Given the description of an element on the screen output the (x, y) to click on. 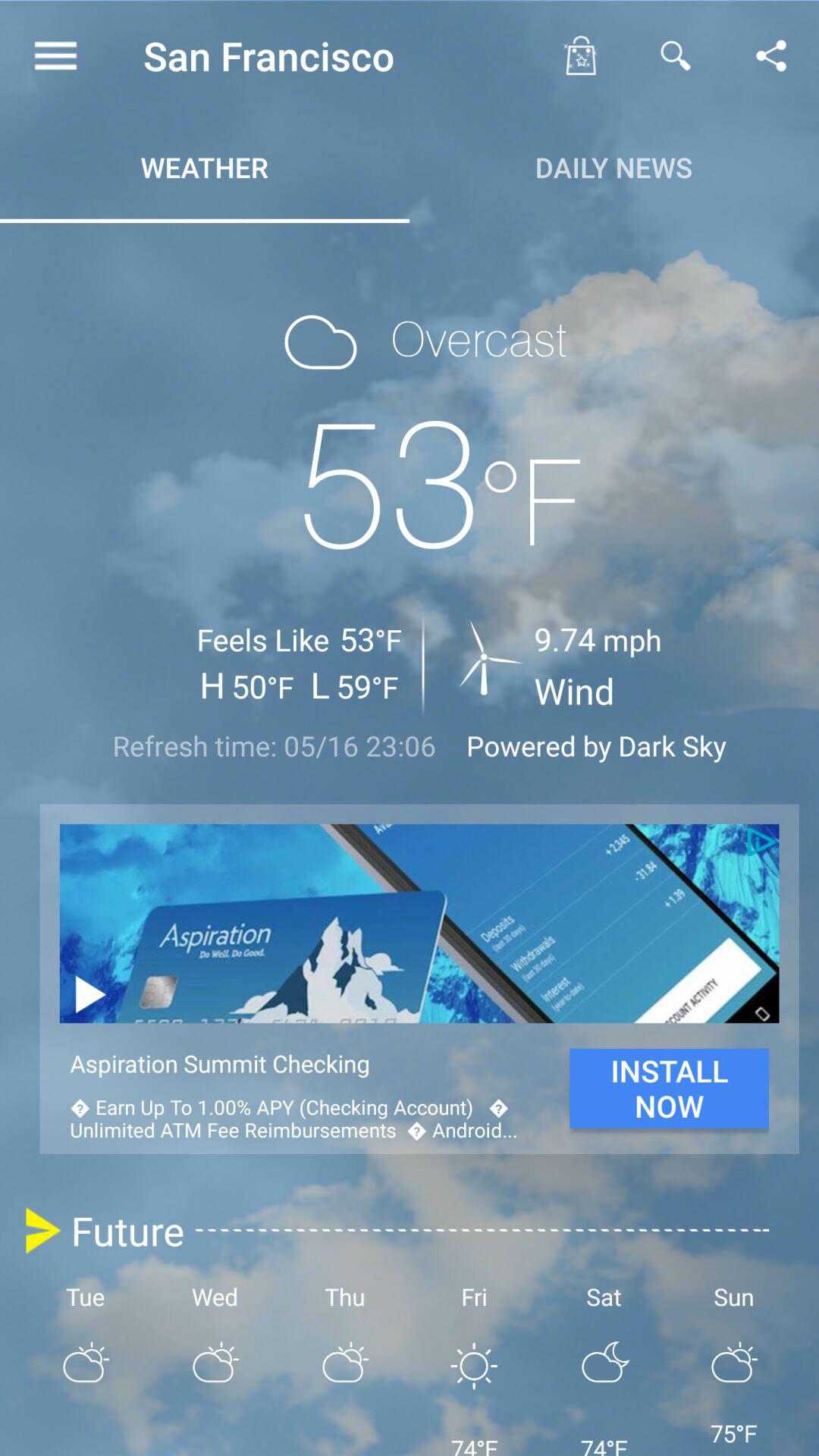
select cloud symbol left to overcast (321, 342)
